Given the description of an element on the screen output the (x, y) to click on. 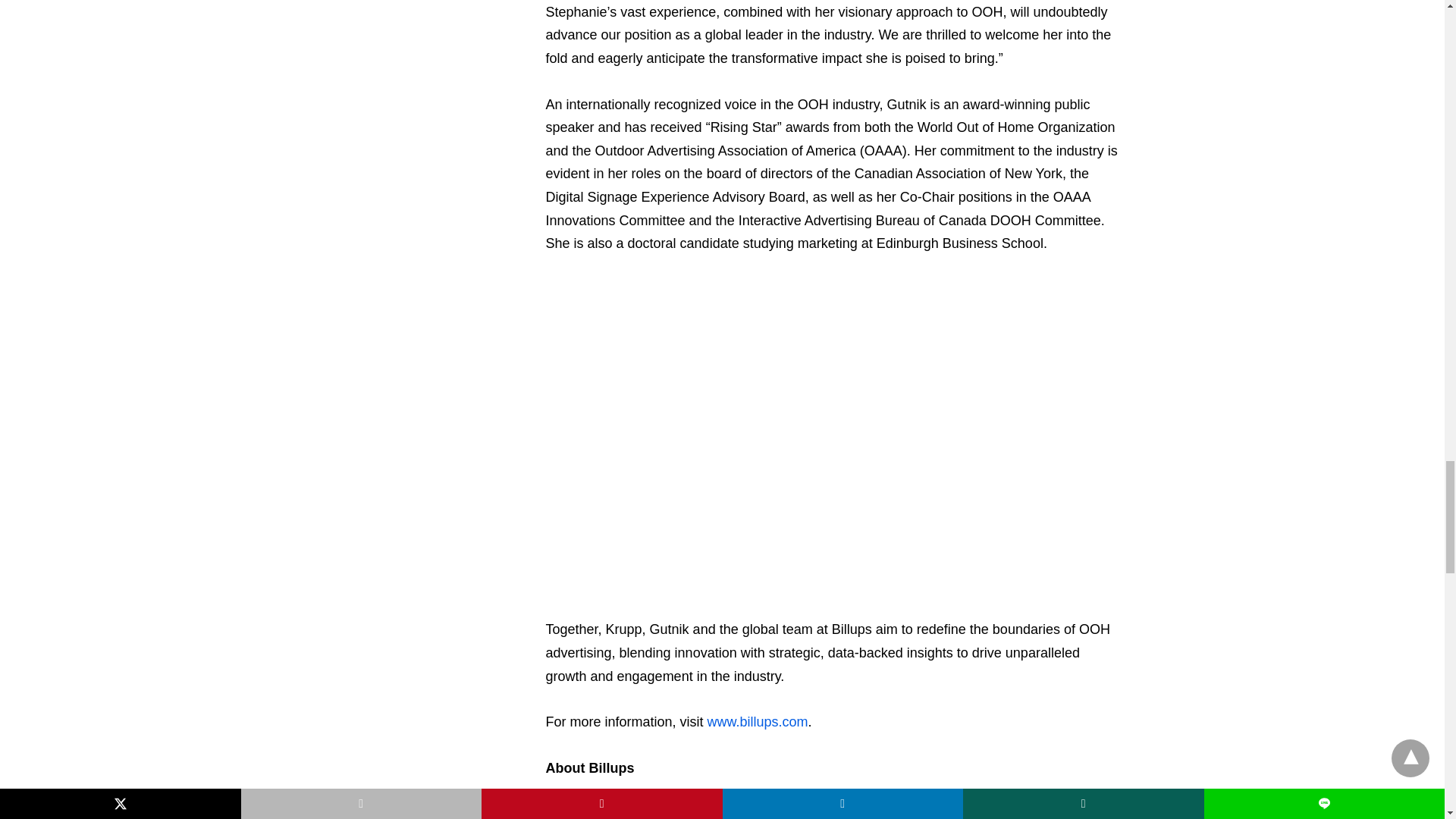
www.billups.com (757, 721)
